Given the description of an element on the screen output the (x, y) to click on. 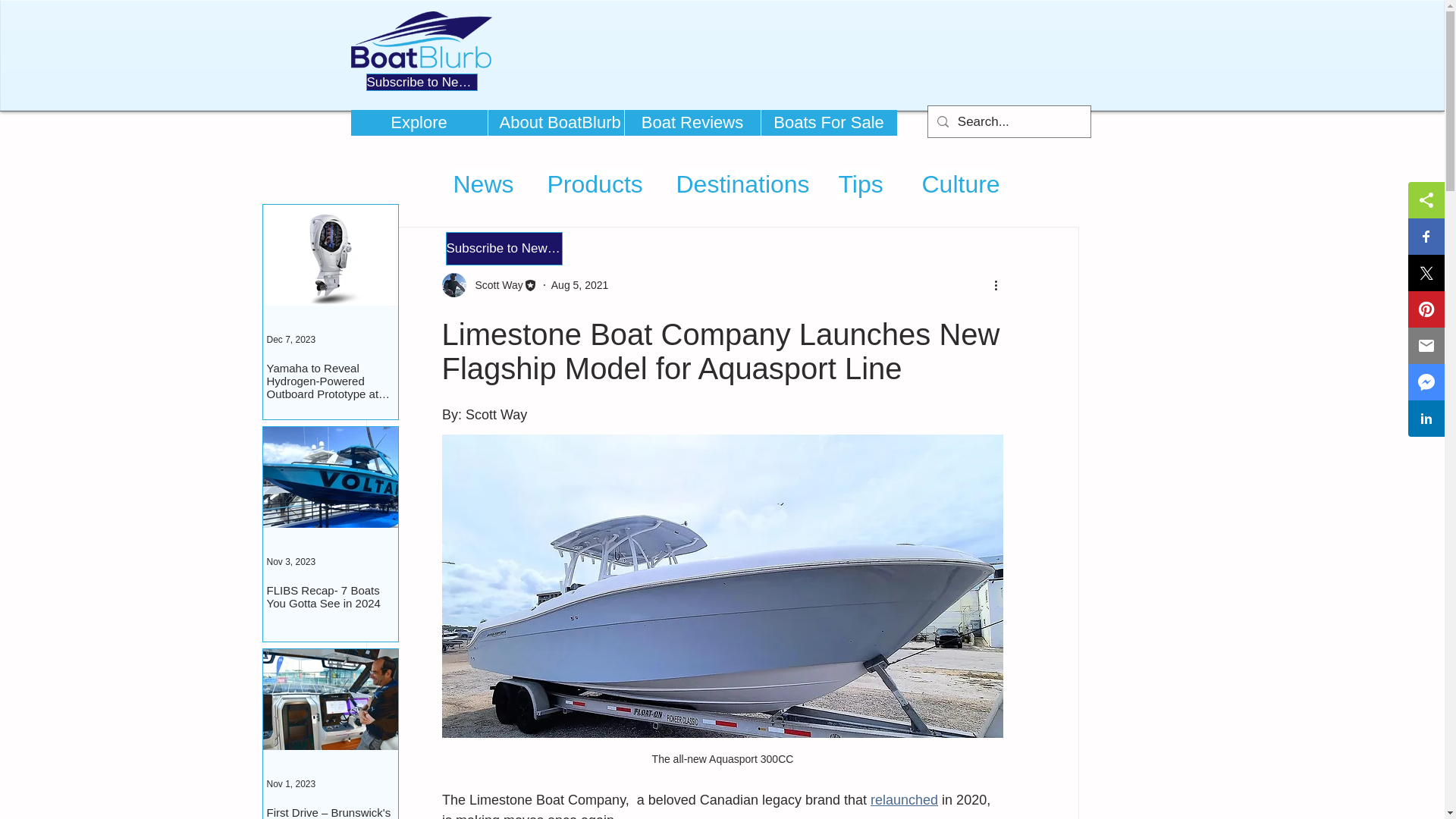
Nov 1, 2023 (290, 783)
About BoatBlurb (554, 122)
Aug 5, 2021 (579, 285)
Nov 3, 2023 (290, 561)
Tips (860, 184)
Scott Way (493, 285)
News (482, 184)
Boat Reviews (691, 122)
relaunched (903, 799)
Scott Way (489, 284)
Explore (418, 122)
Boats For Sale (828, 122)
Subscribe to Newsletter (421, 81)
Dec 7, 2023 (290, 339)
Destinations (743, 184)
